Given the description of an element on the screen output the (x, y) to click on. 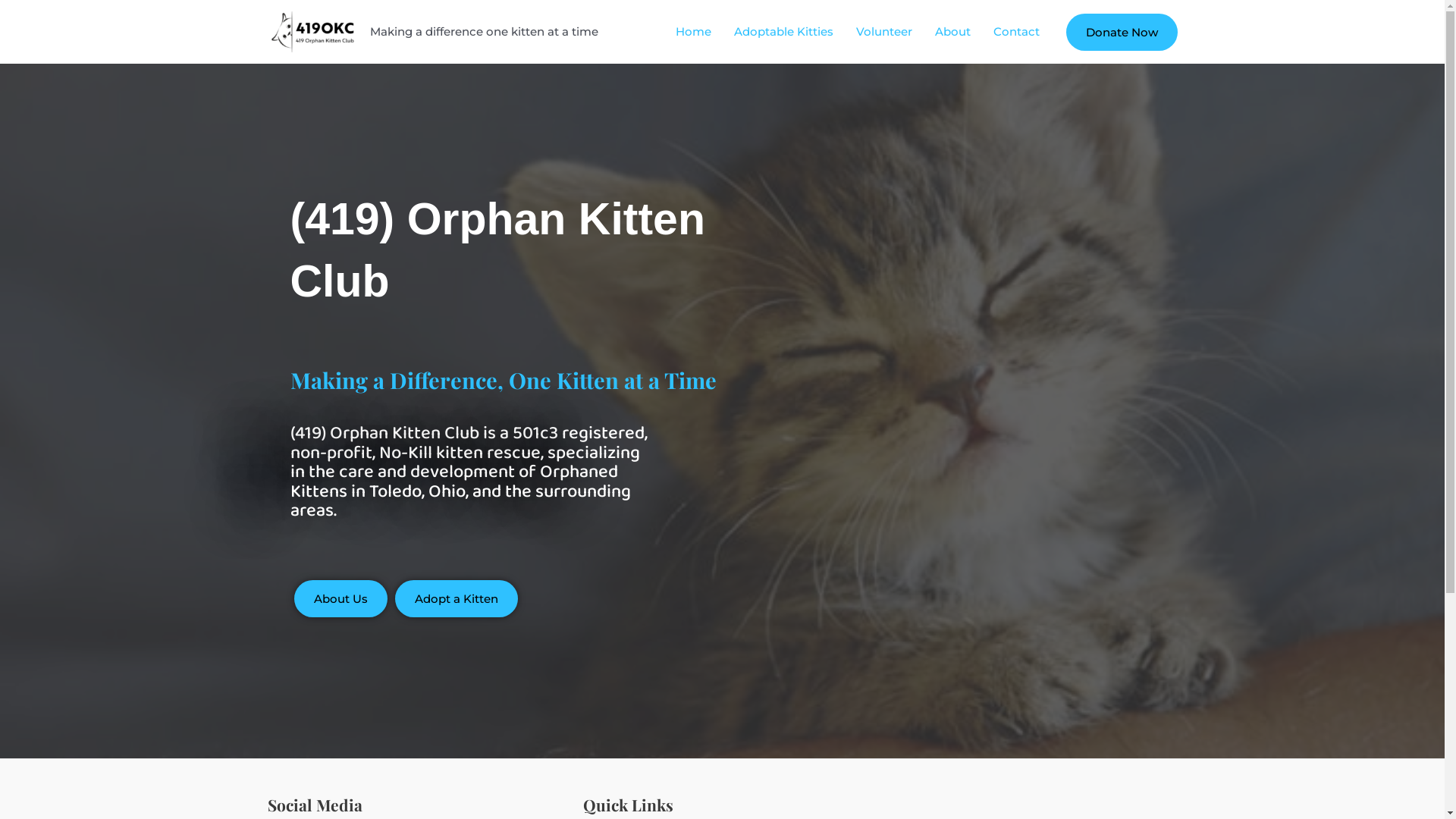
About Element type: text (952, 31)
About Us Element type: text (340, 598)
Adopt a Kitten Element type: text (455, 598)
Home Element type: text (693, 31)
Volunteer Element type: text (883, 31)
Adoptable Kitties Element type: text (782, 31)
Contact Element type: text (1015, 31)
Donate Now Element type: text (1121, 31)
